Given the description of an element on the screen output the (x, y) to click on. 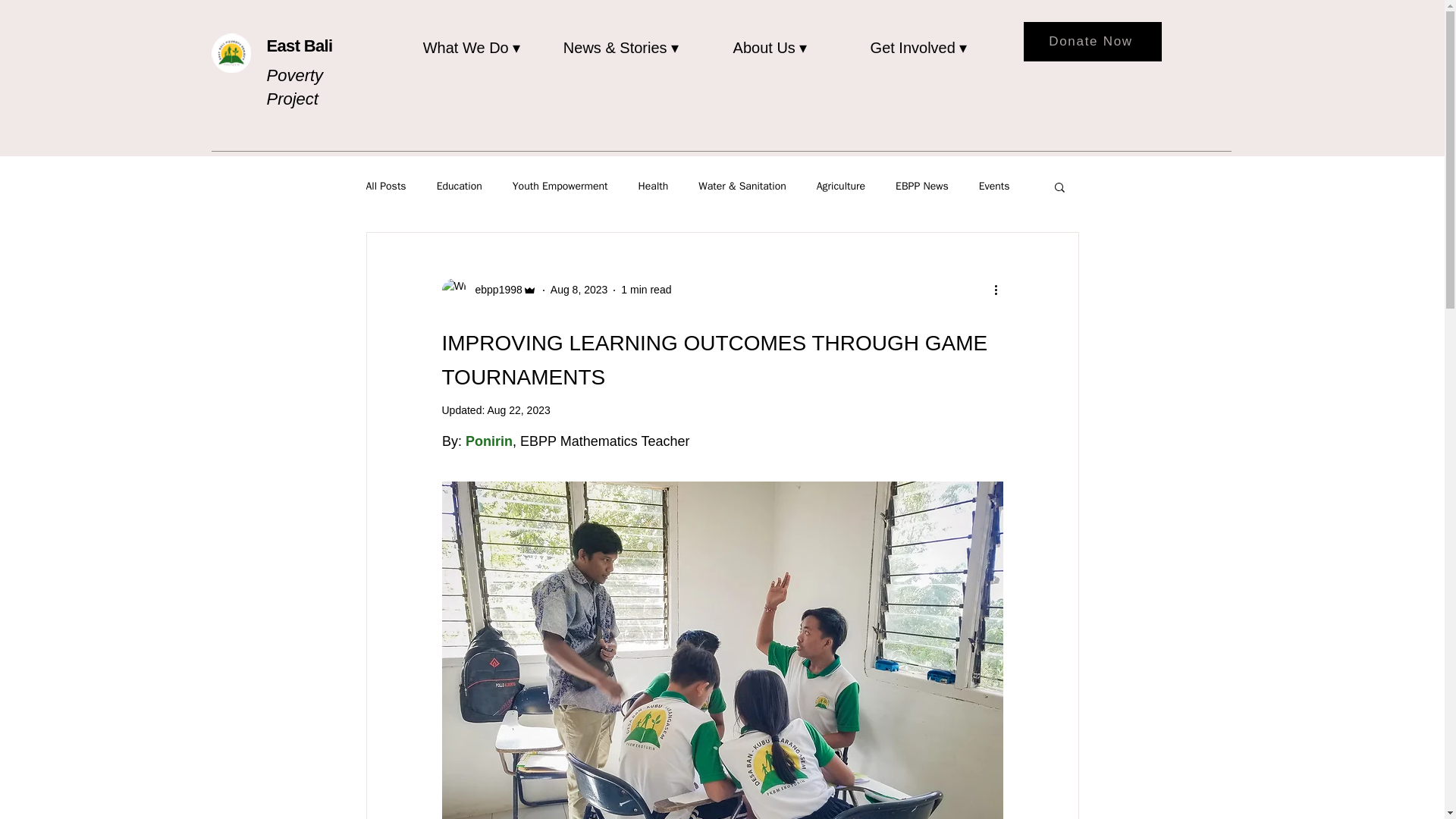
Youth Empowerment (560, 186)
EBPP News (922, 186)
Agriculture (840, 186)
Donate Now (1092, 41)
East Bali (299, 45)
ebpp1998 (493, 289)
1 min read (646, 289)
Group 34.png (230, 52)
Events (994, 186)
ebpp1998 (488, 290)
